Given the description of an element on the screen output the (x, y) to click on. 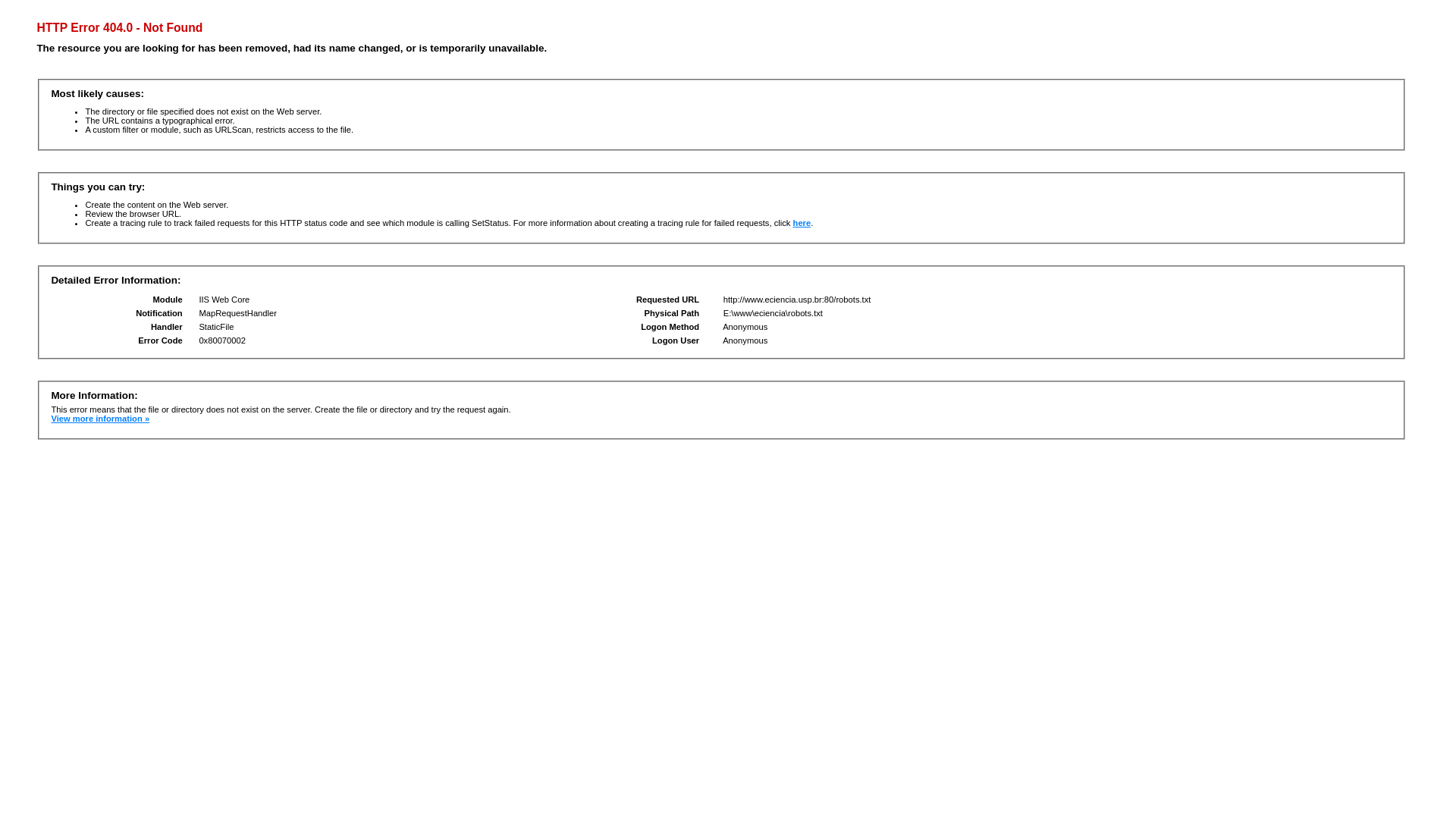
here Element type: text (802, 222)
